Given the description of an element on the screen output the (x, y) to click on. 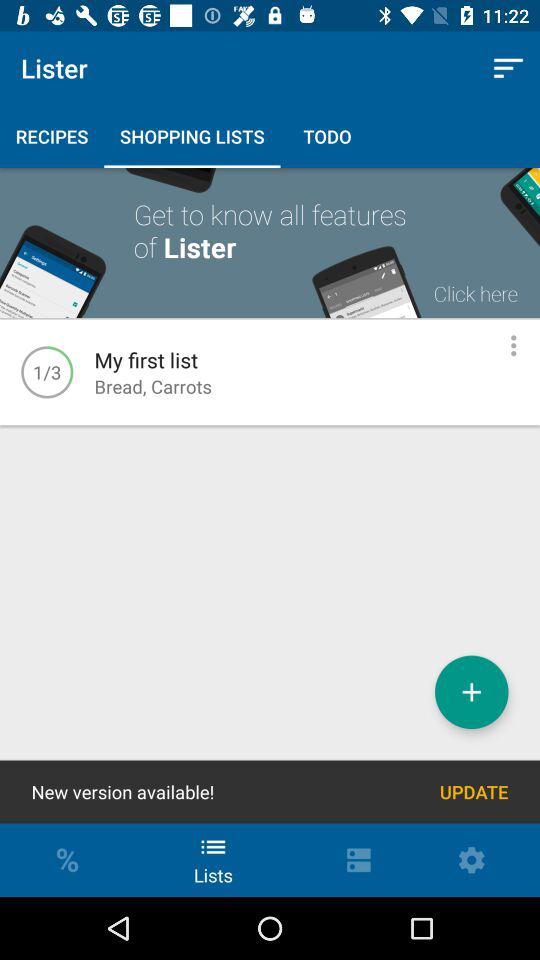
create new list (471, 692)
